Given the description of an element on the screen output the (x, y) to click on. 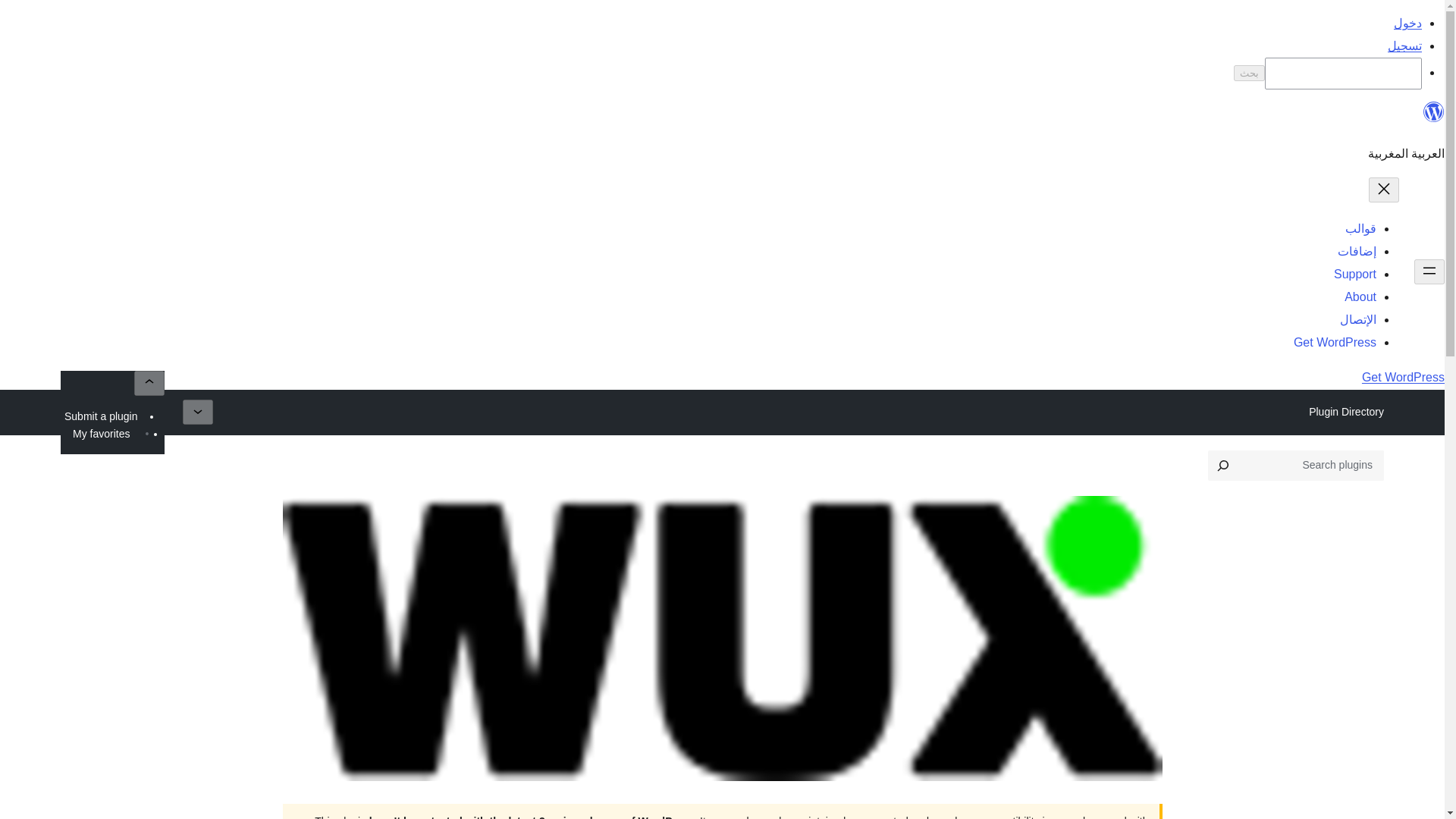
Support (1354, 273)
Submit a plugin (101, 415)
My favorites (100, 433)
Get WordPress (1334, 341)
About (1359, 296)
Plugin Directory (1345, 411)
